Given the description of an element on the screen output the (x, y) to click on. 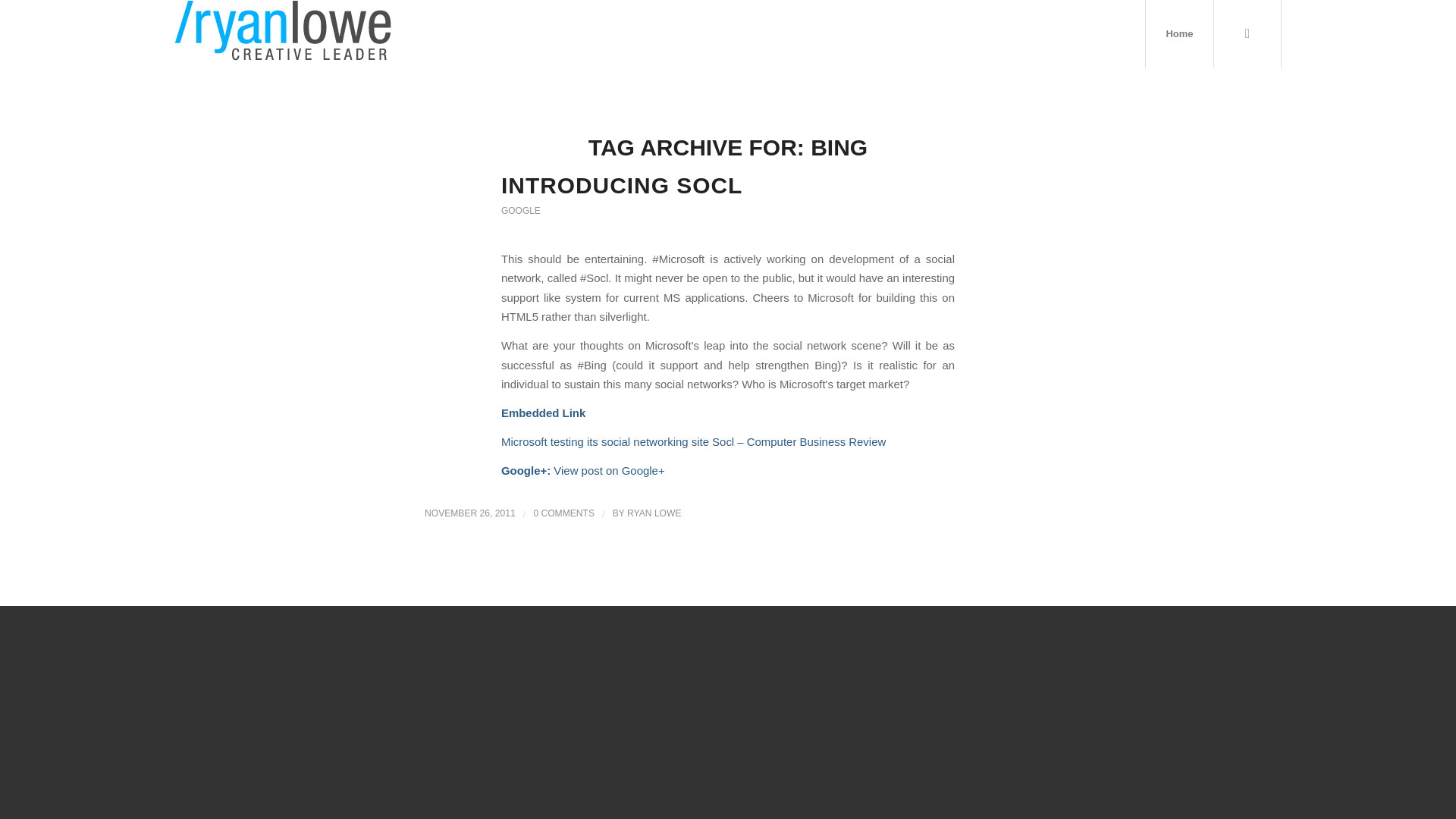
GOOGLE (520, 210)
Permanent Link: Introducing Socl (621, 185)
RYAN LOWE (654, 512)
Ryan Lowe Creative Leader (282, 33)
Posts by Ryan Lowe (654, 512)
0 COMMENTS (563, 512)
INTRODUCING SOCL (621, 185)
Ryan Lowe Creative Leader (282, 30)
Home (1178, 33)
